Given the description of an element on the screen output the (x, y) to click on. 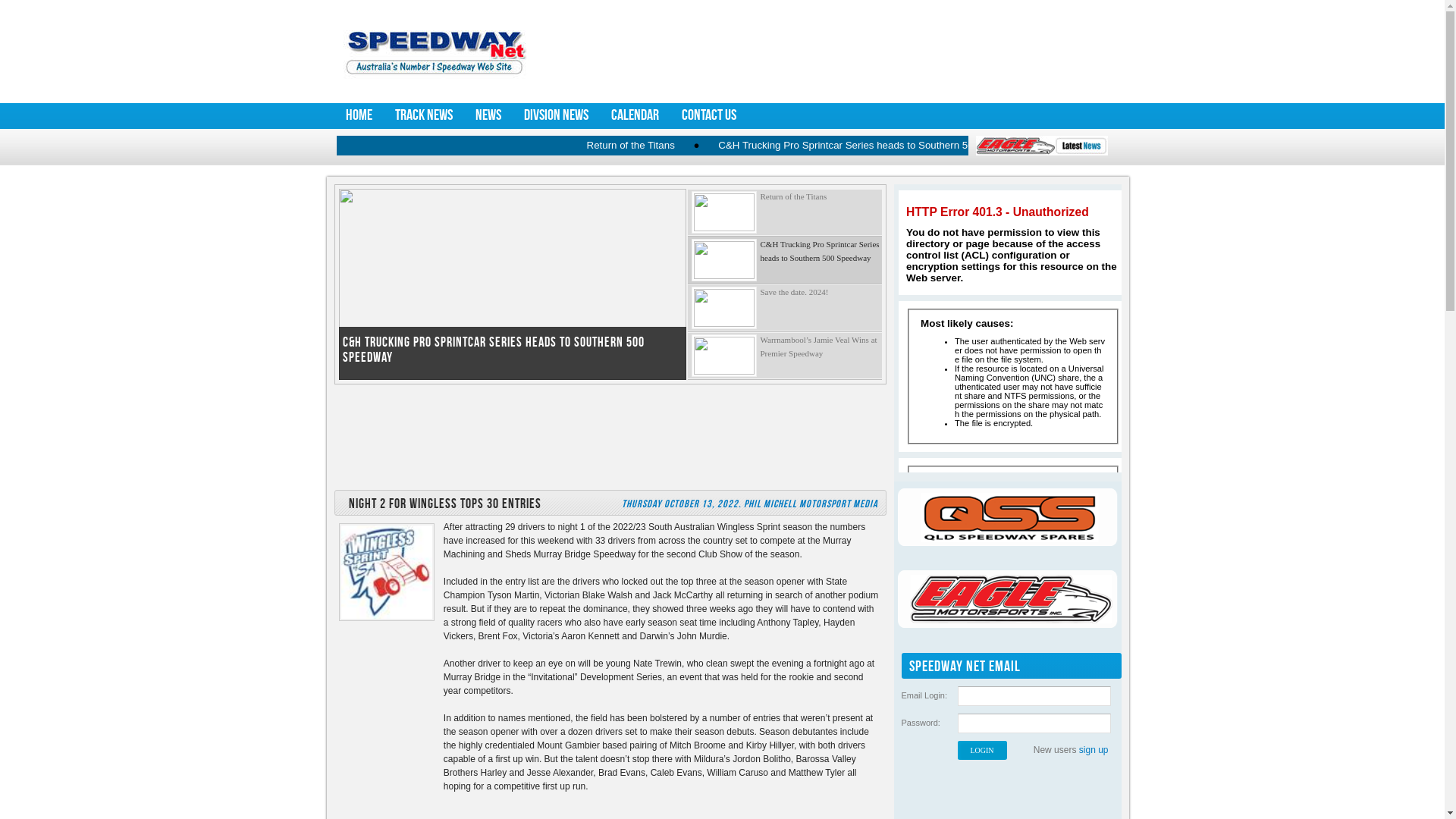
Advertisement Element type: hover (609, 437)
Advertisement Element type: hover (823, 50)
TRACK NEWS Element type: text (423, 114)
  NIGHT 2 FOR WINGLESS TOPS 30 ENTRIES Element type: text (441, 503)
sign up Element type: text (1093, 749)
NEWS Element type: text (488, 114)
CALENDAR Element type: text (634, 114)
Return of the Titans Element type: text (712, 144)
Save the date. 2024! Element type: text (784, 307)
Return of the Titans Element type: text (784, 212)
CONTACT US Element type: text (708, 114)
Login Element type: text (981, 749)
DIVSION NEWS Element type: text (555, 114)
HOME Element type: text (357, 114)
